Given the description of an element on the screen output the (x, y) to click on. 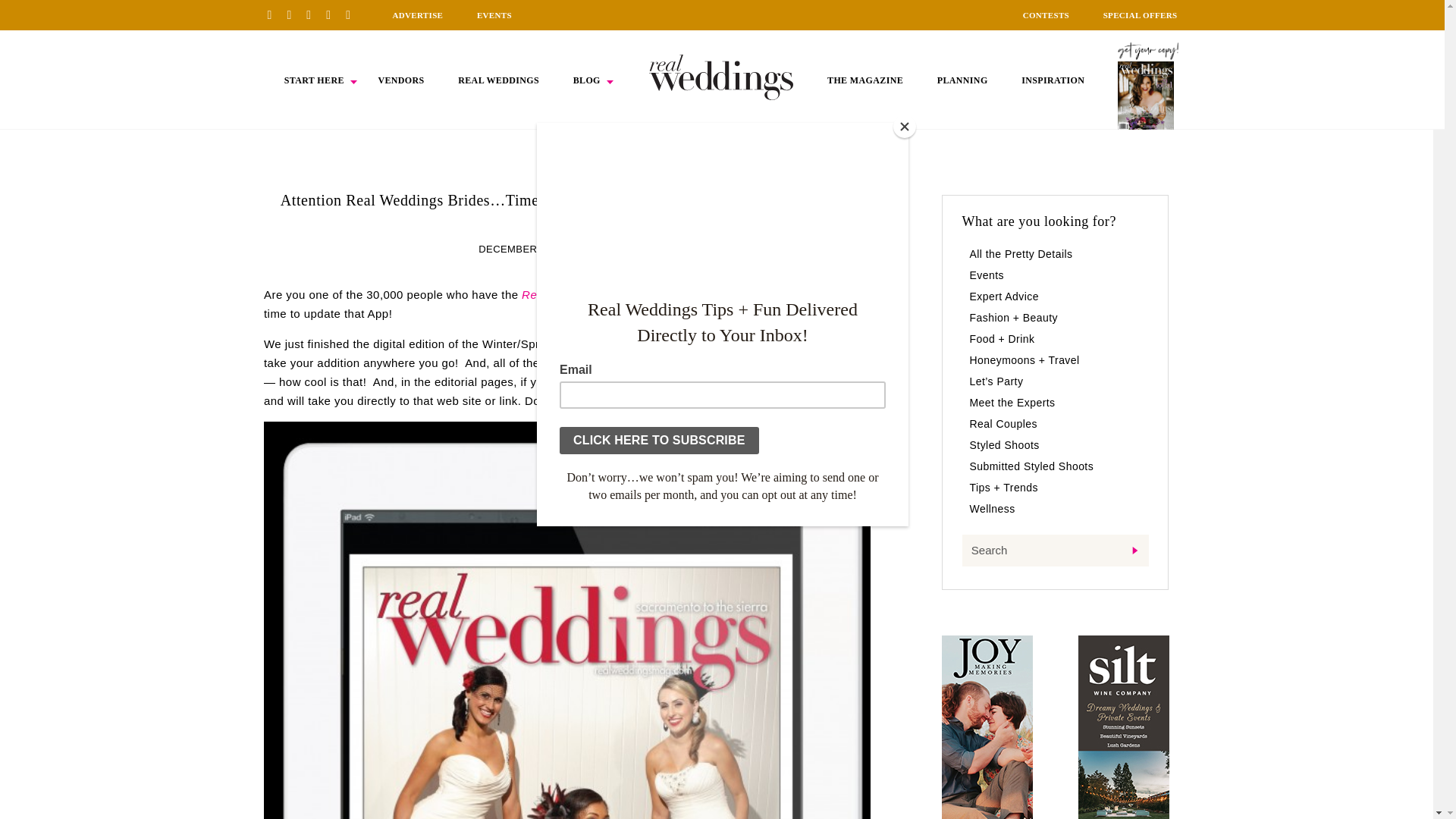
CONTESTS (1045, 14)
Real Weddings (675, 343)
Search (1054, 550)
Instagram (313, 14)
ADVERTISE (416, 14)
REAL WEDDINGS (498, 80)
Twitter (334, 14)
Pinterest (274, 14)
START HERE (313, 80)
INSPIRATION (1053, 80)
YouTube (353, 14)
Search (1054, 550)
LET'S PARTY (623, 248)
PLANNING (962, 80)
VENDORS (400, 80)
